Given the description of an element on the screen output the (x, y) to click on. 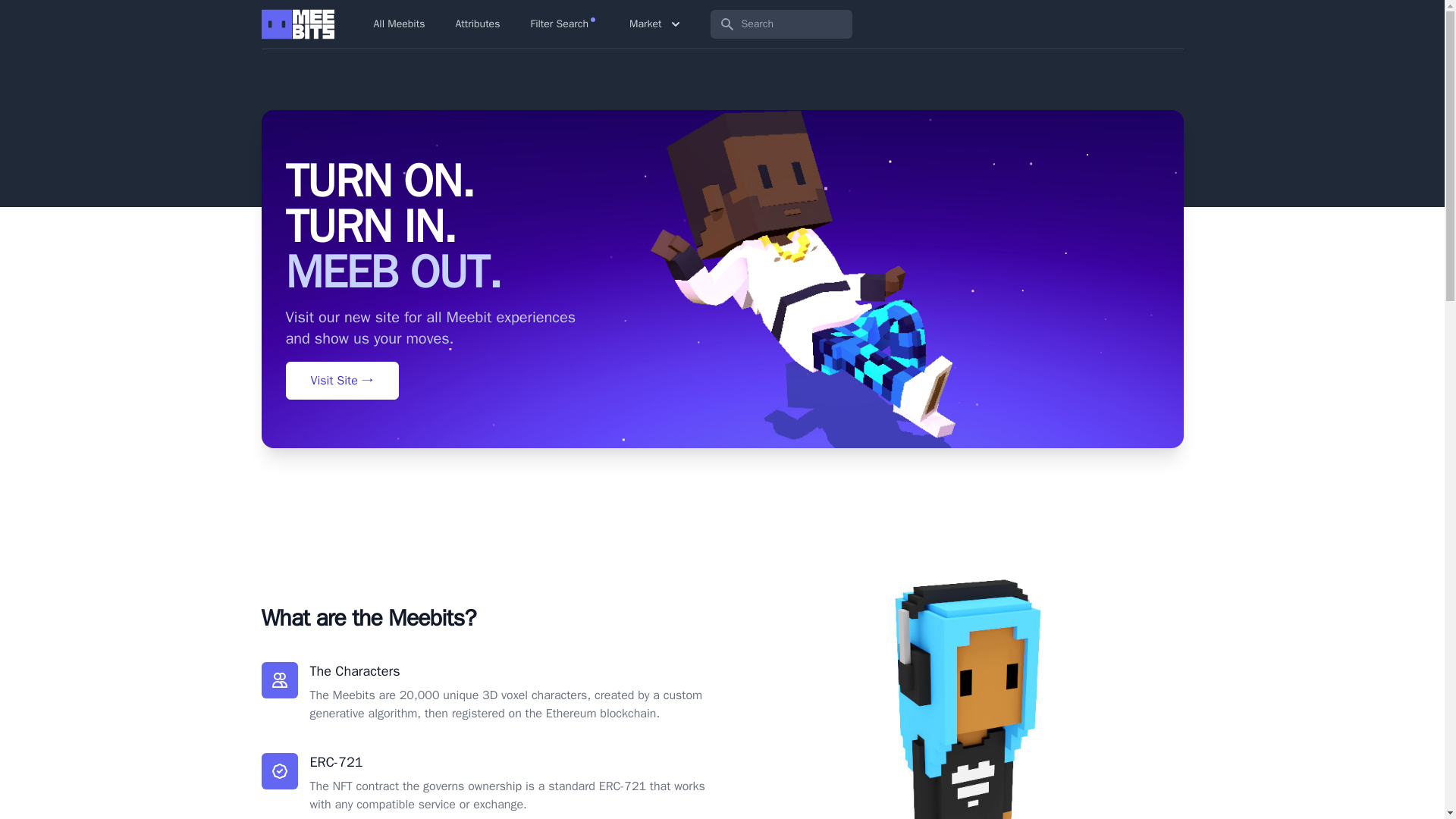
All Meebits (398, 23)
Market (655, 23)
Filter Search (563, 23)
Attributes (476, 23)
